Given the description of an element on the screen output the (x, y) to click on. 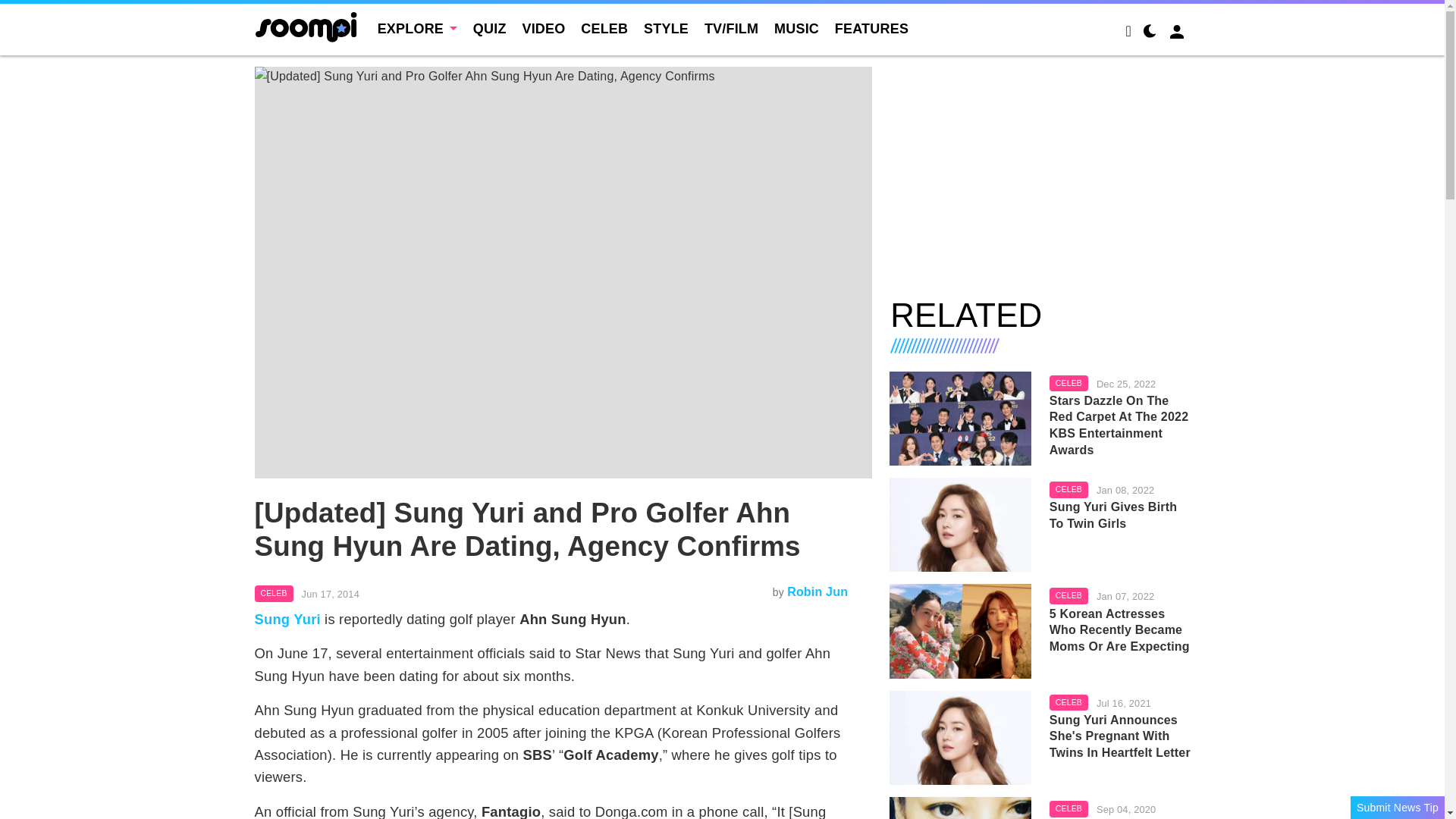
Celeb (1068, 489)
Robin Jun (817, 591)
Celeb (274, 593)
Sung Yuri (287, 618)
CELEB (274, 593)
3rd party ad content (1040, 173)
QUIZ (489, 28)
Celeb (1068, 383)
STYLE (665, 28)
FEATURES (871, 28)
VIDEO (542, 28)
Articles by Robin Jun (817, 591)
EXPLORE (417, 28)
Sung Yuri Gives Birth To Twin Girls (959, 524)
